Given the description of an element on the screen output the (x, y) to click on. 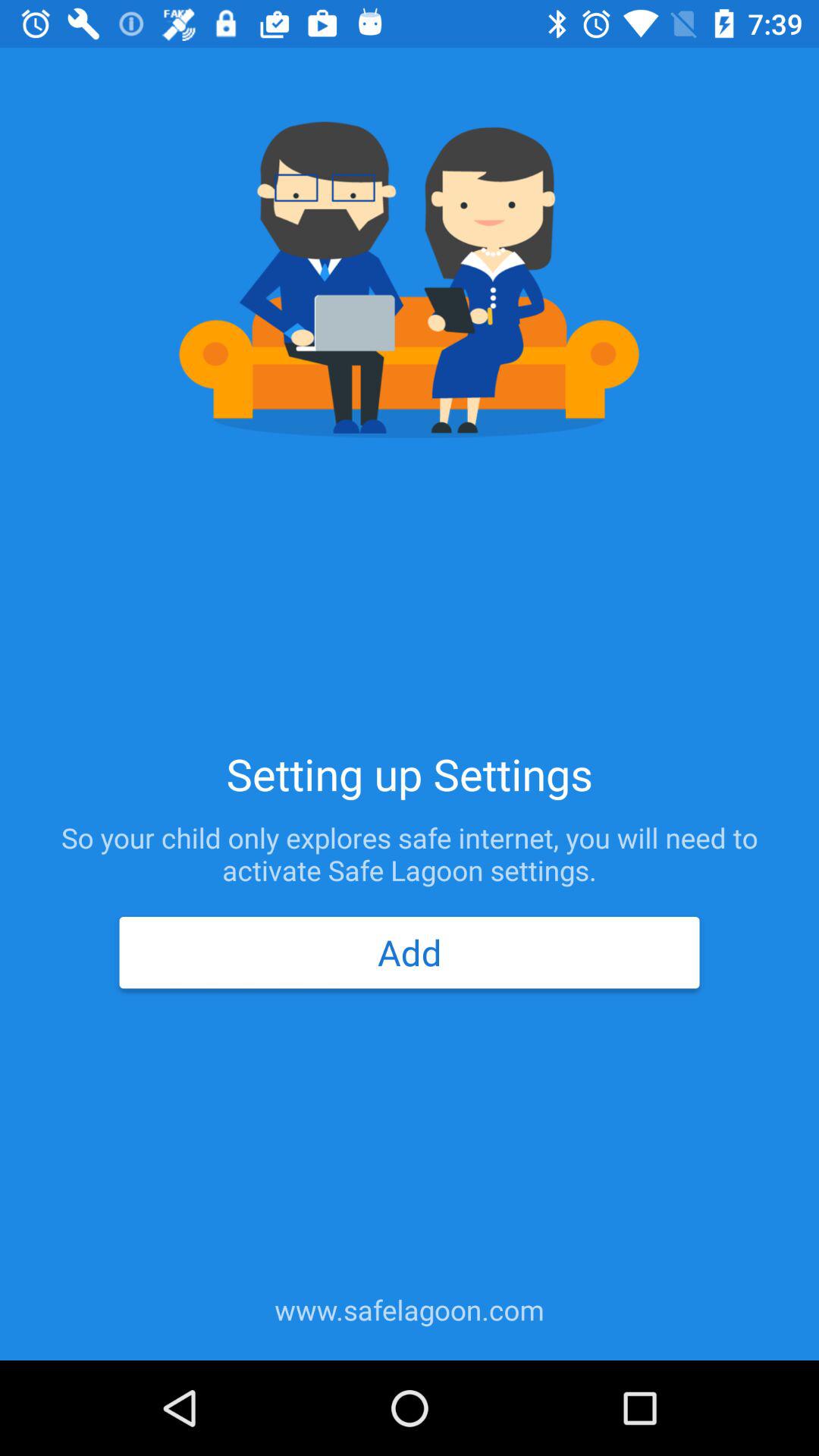
tap icon above www.safelagoon.com icon (409, 952)
